Given the description of an element on the screen output the (x, y) to click on. 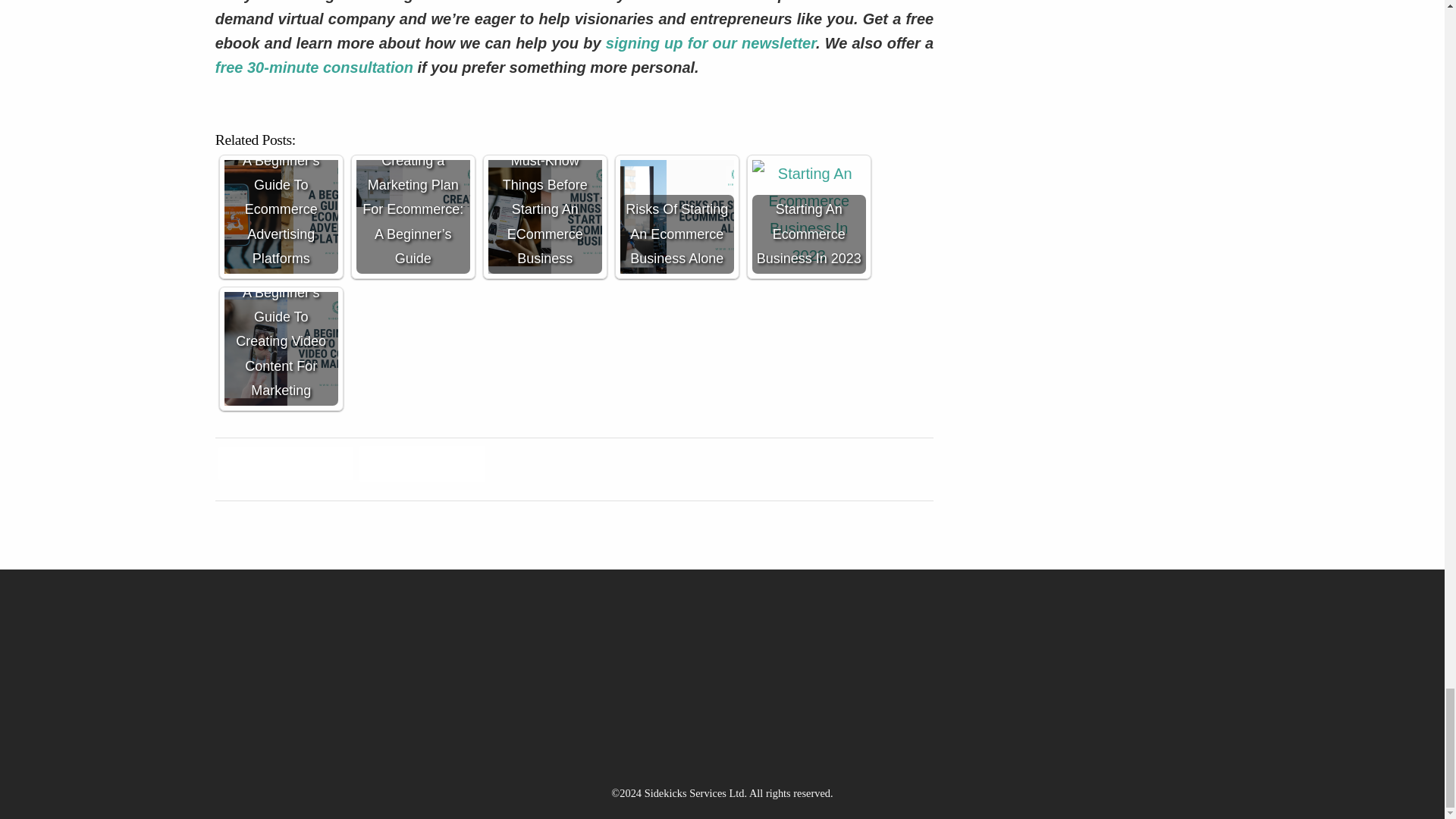
Twitter (421, 465)
Must-Know Things Before Starting An ECommerce Business (544, 216)
Risks Of Starting An Ecommerce Business Alone (676, 216)
Risks Of Starting An Ecommerce Business Alone (676, 216)
Facebook (285, 465)
Sidekicks (831, 1)
Must-Know Things Before Starting An ECommerce Business (544, 216)
free 30-minute consultation (314, 67)
signing up for our newsletter (708, 43)
Facebook (285, 465)
Starting An Ecommerce Business In 2023 (809, 216)
Starting An Ecommerce Business In 2023 (809, 216)
Twitter (421, 465)
